Given the description of an element on the screen output the (x, y) to click on. 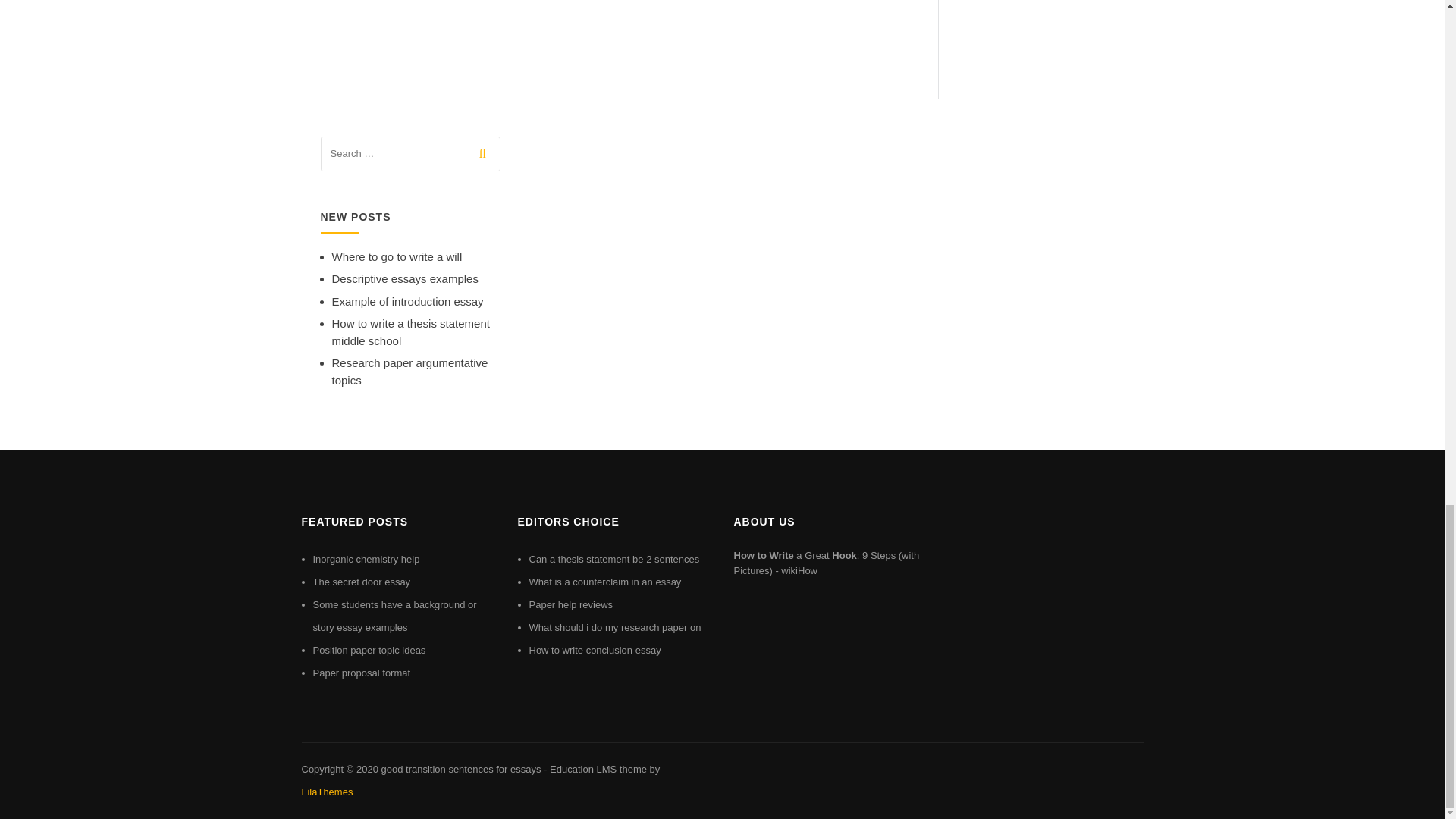
good transition sentences for essays (460, 768)
Inorganic chemistry help (366, 559)
What should i do my research paper on (615, 627)
Where to go to write a will (397, 256)
Some students have a background or story essay examples (394, 615)
The secret door essay (361, 582)
Example of introduction essay (407, 300)
How to write a thesis statement middle school (410, 331)
How to write conclusion essay (595, 650)
good transition sentences for essays (460, 768)
